Given the description of an element on the screen output the (x, y) to click on. 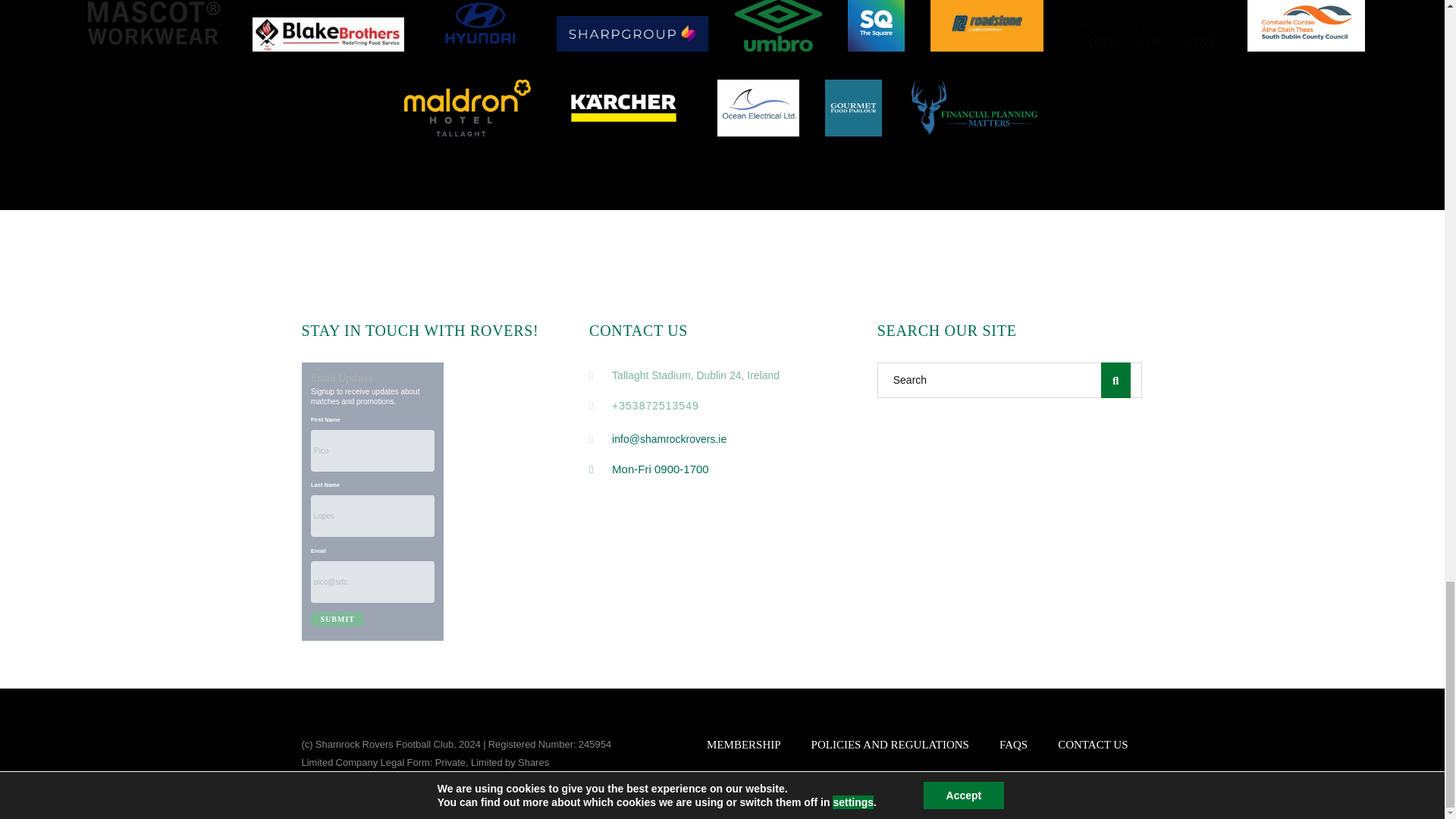
South Dublin County Council (1306, 25)
Blake Brothers (327, 34)
Hyundai (480, 25)
Beat the Bank (1144, 37)
The Square (875, 25)
Umbro (778, 25)
Ocean Electrical (758, 107)
Maldron (467, 107)
Roadstone (986, 25)
Sharp Group (631, 33)
